Given the description of an element on the screen output the (x, y) to click on. 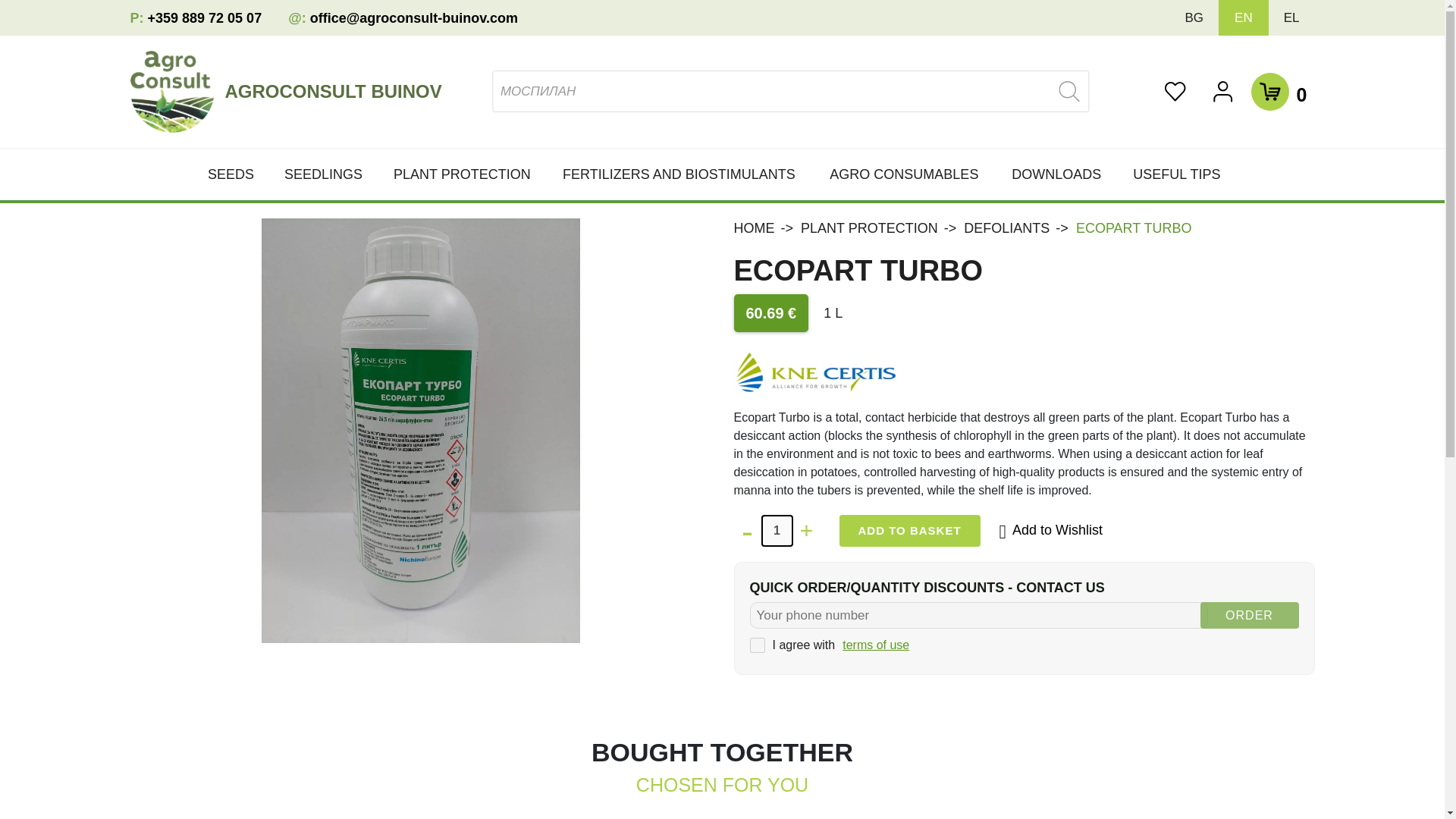
on (756, 645)
BG (1194, 17)
1 (777, 531)
EL (1292, 17)
SEEDS (238, 174)
Qty (777, 531)
AGROCONSULT BUINOV (338, 91)
EN (1243, 17)
